Given the description of an element on the screen output the (x, y) to click on. 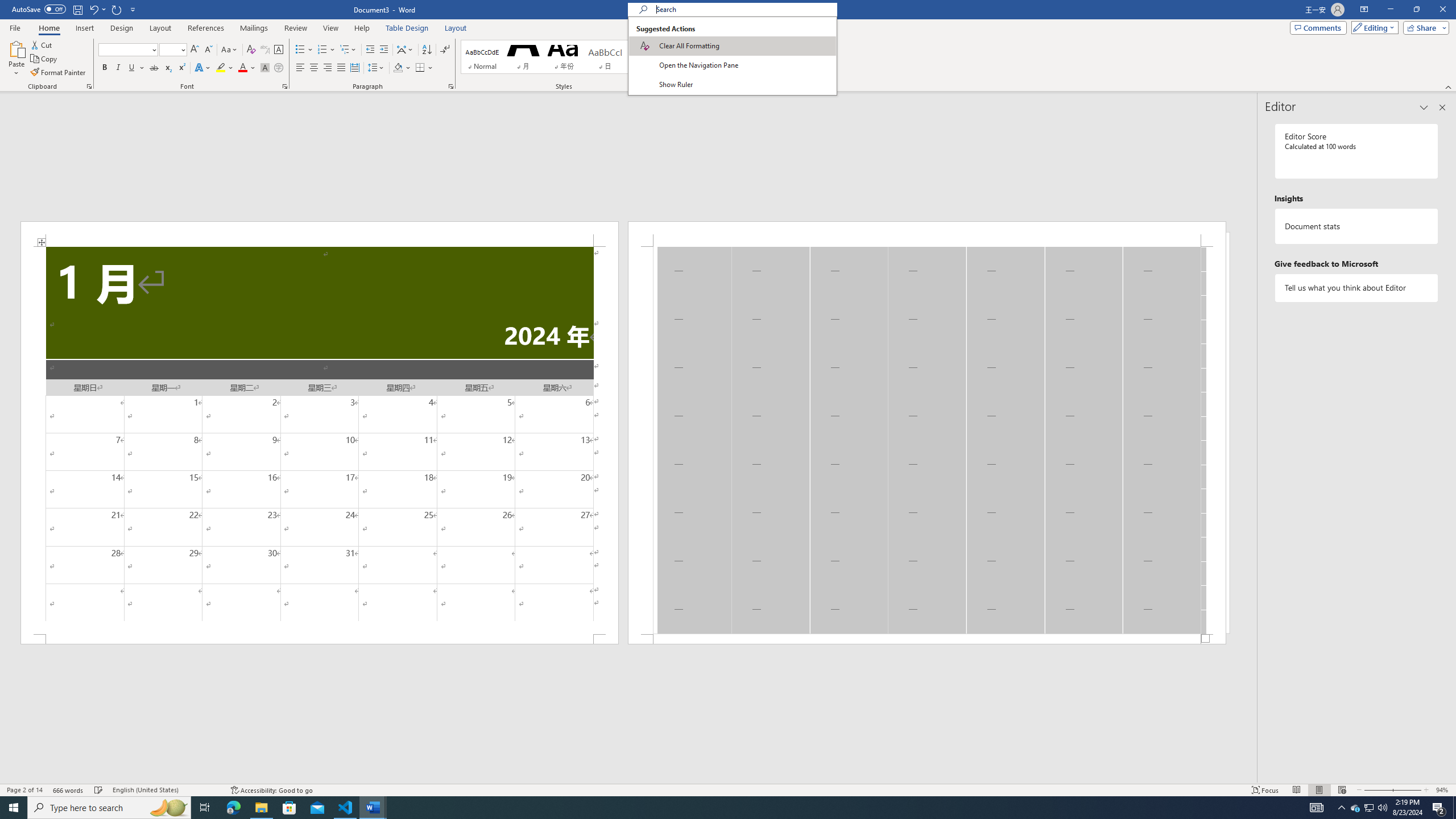
Design (122, 28)
File Tab (15, 27)
Language English (United States) (165, 790)
Bullets (300, 49)
Review (295, 28)
Text Highlight Color Yellow (220, 67)
Open the Navigation Pane (731, 65)
Repeat Doc Close (117, 9)
Office Clipboard... (88, 85)
Underline (131, 67)
Page Number Page 2 of 14 (24, 790)
Dictate (747, 58)
Borders (424, 67)
References (205, 28)
